Given the description of an element on the screen output the (x, y) to click on. 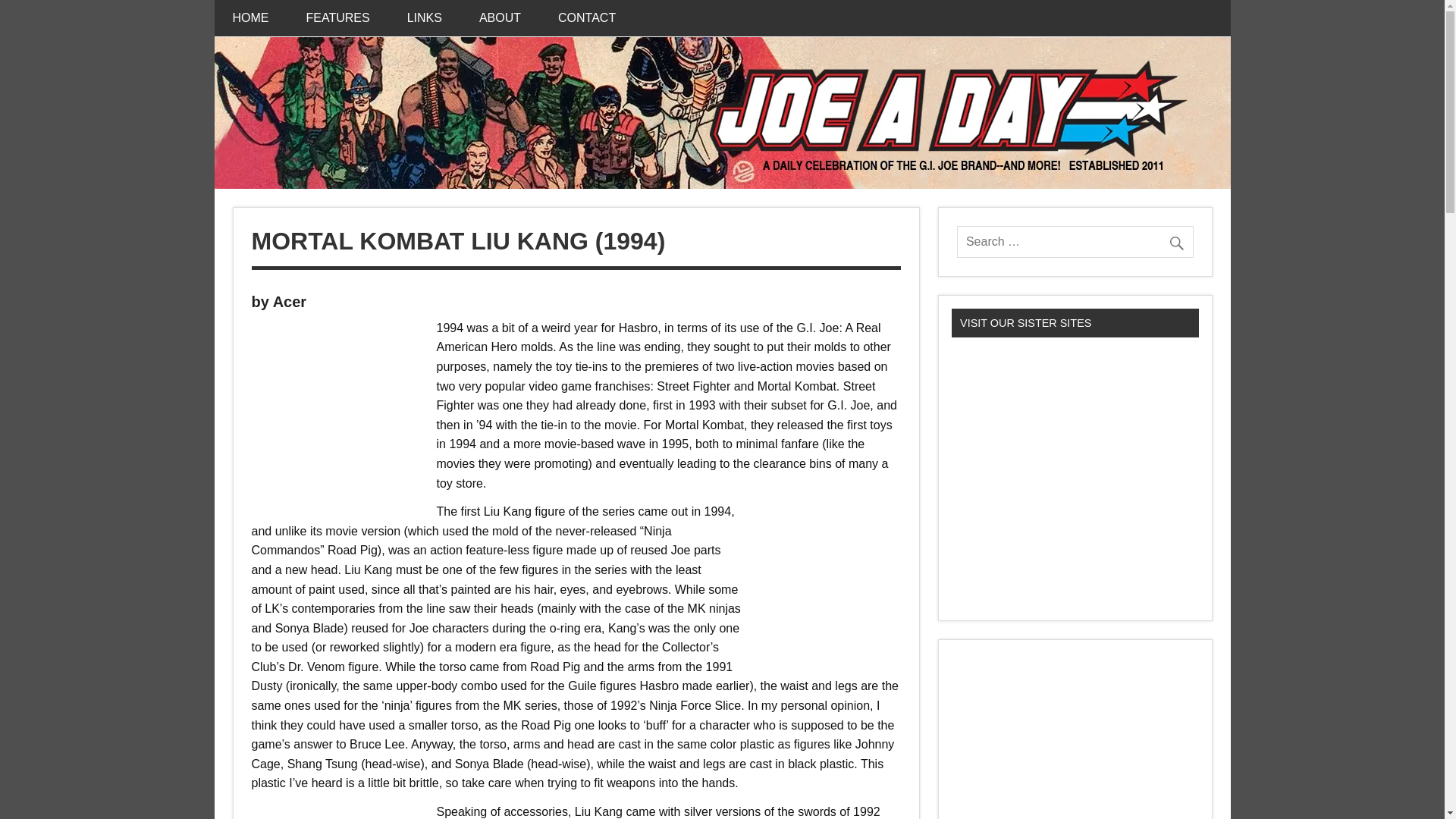
ABOUT (499, 18)
FEATURES (338, 18)
LINKS (424, 18)
LK 2 (834, 580)
LK 3 (331, 816)
LK 1 (331, 410)
CONTACT (586, 18)
HOME (250, 18)
